Given the description of an element on the screen output the (x, y) to click on. 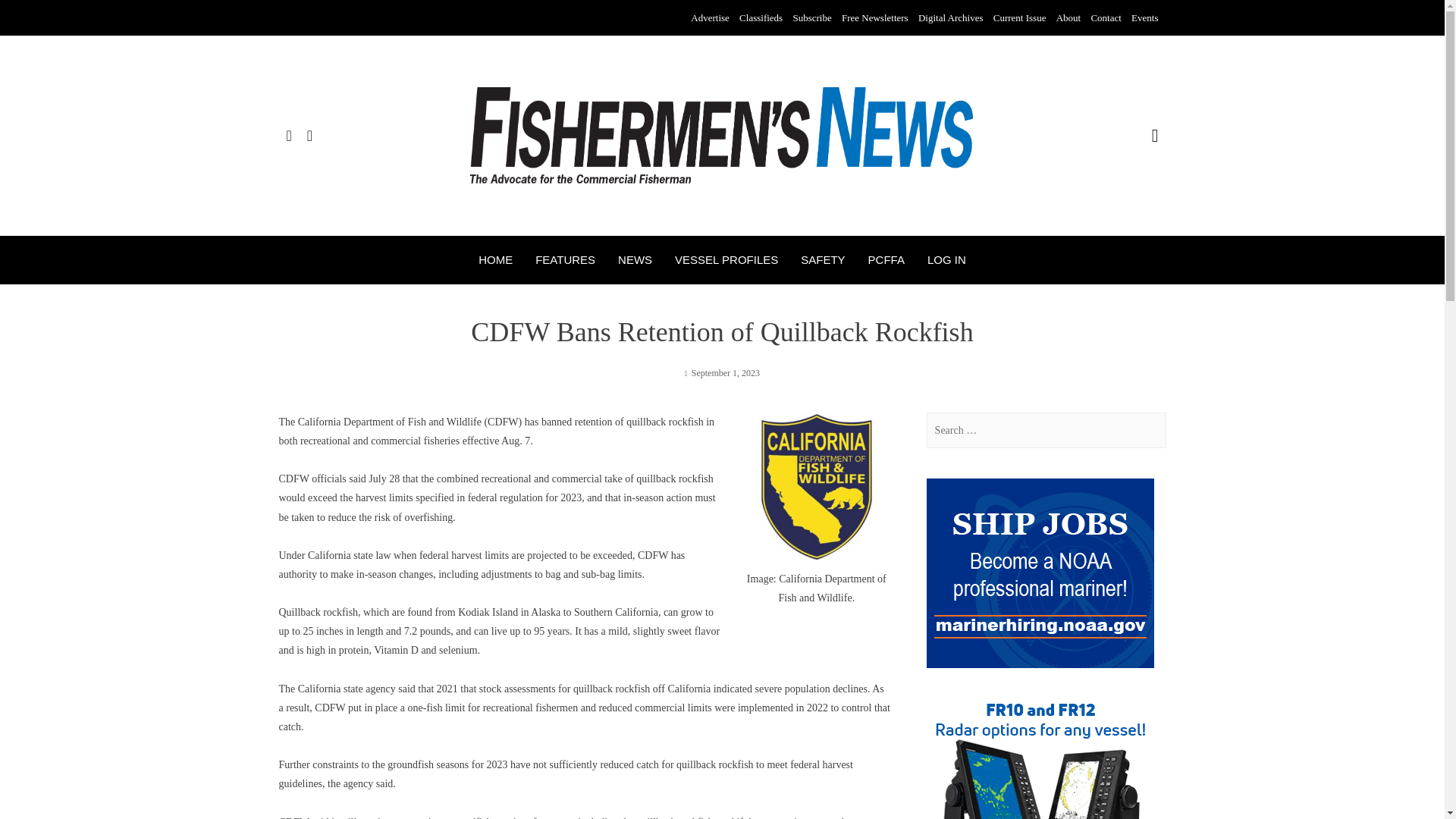
PCFFA (885, 259)
SAFETY (822, 259)
Contact (1105, 17)
Subscribe (811, 17)
NEWS (634, 259)
Current Issue (1019, 17)
Classifieds (761, 17)
HOME (495, 259)
Free Newsletters (874, 17)
LOG IN (946, 259)
Digital Archives (951, 17)
VESSEL PROFILES (726, 259)
Advertise (709, 17)
FEATURES (565, 259)
About (1069, 17)
